Given the description of an element on the screen output the (x, y) to click on. 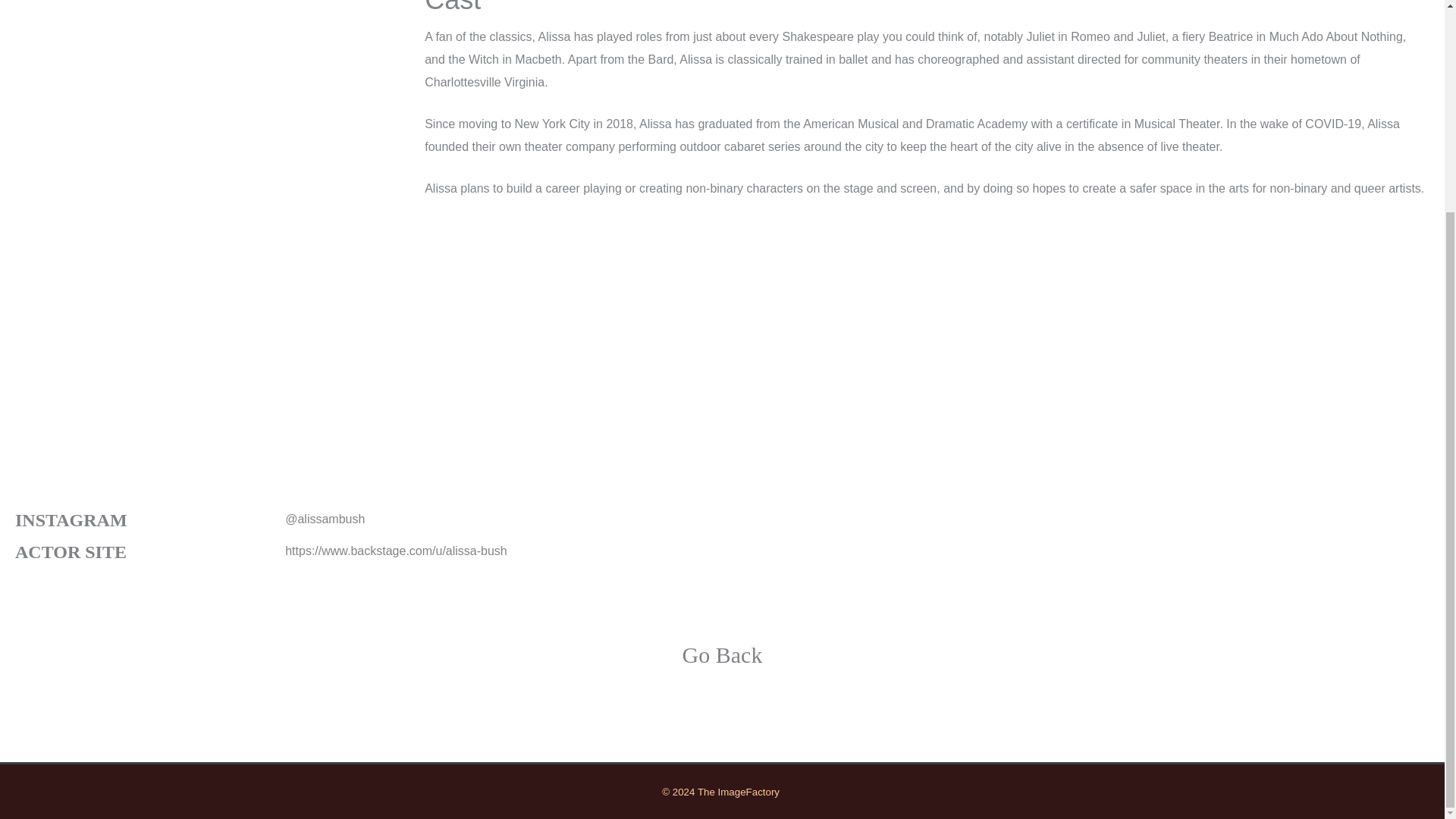
Go Back (722, 654)
